Given the description of an element on the screen output the (x, y) to click on. 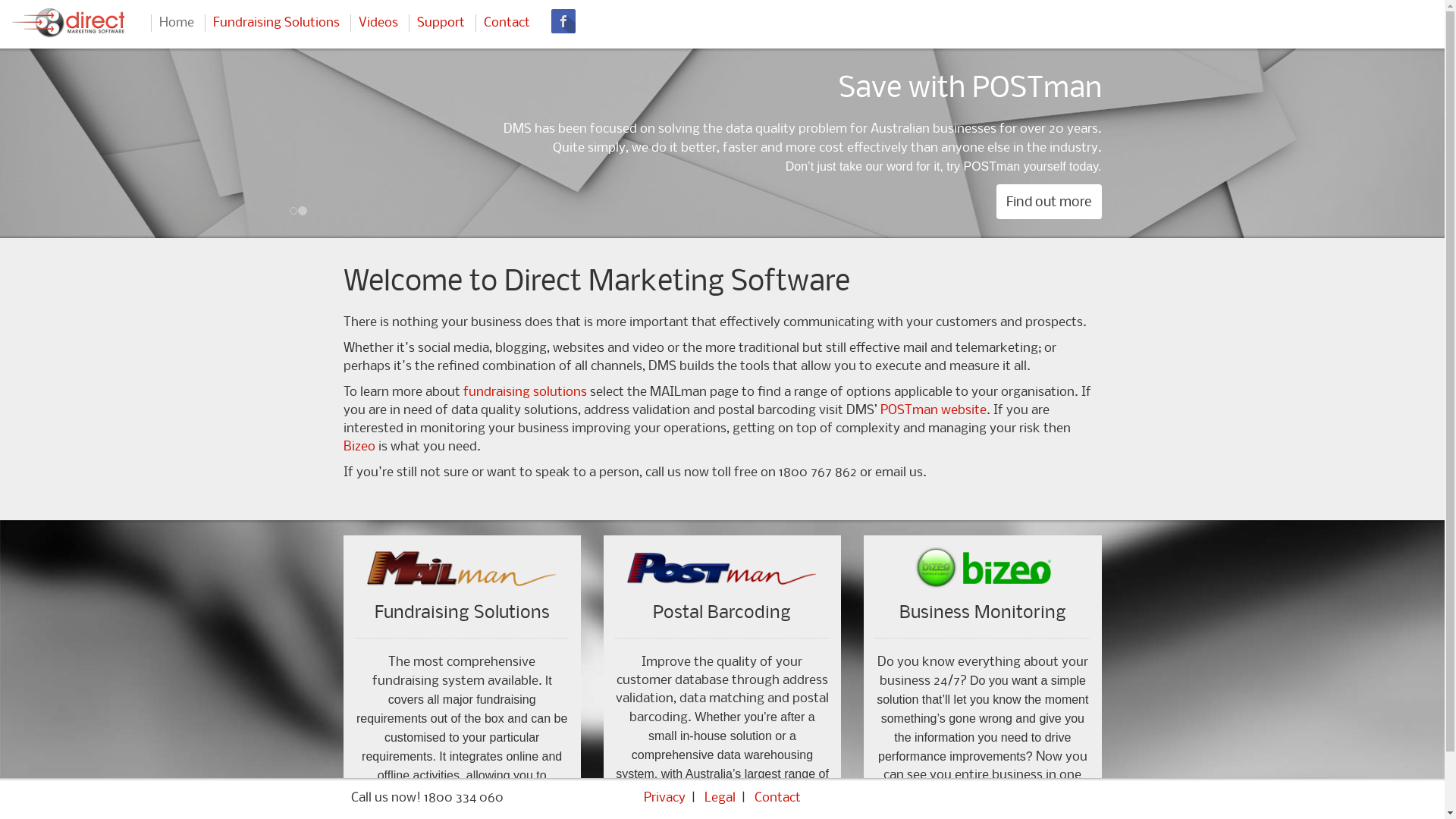
Bizeo Element type: text (358, 446)
Privacy Element type: text (664, 797)
fundraising solutions Element type: text (524, 392)
Support Element type: text (440, 22)
Legal Element type: text (719, 797)
POSTman website Element type: text (932, 410)
Contact Element type: text (777, 797)
Fundraising Solutions Element type: text (275, 22)
Videos Element type: text (377, 22)
Home Element type: text (175, 22)
Contact Element type: text (506, 22)
Find out more Element type: text (395, 163)
